Given the description of an element on the screen output the (x, y) to click on. 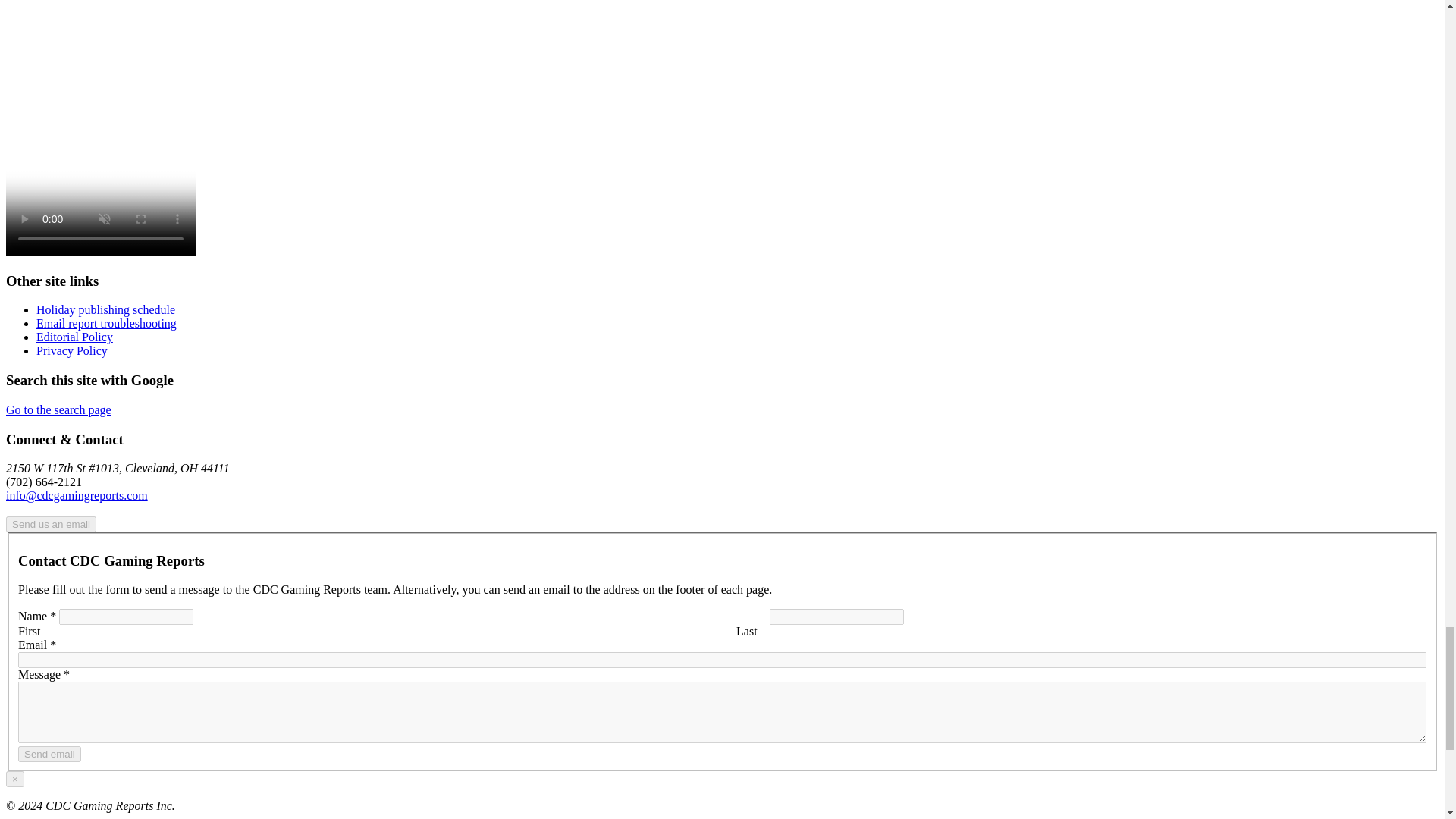
Holiday publishing schedule (105, 309)
Email report troubleshooting (106, 323)
